Given the description of an element on the screen output the (x, y) to click on. 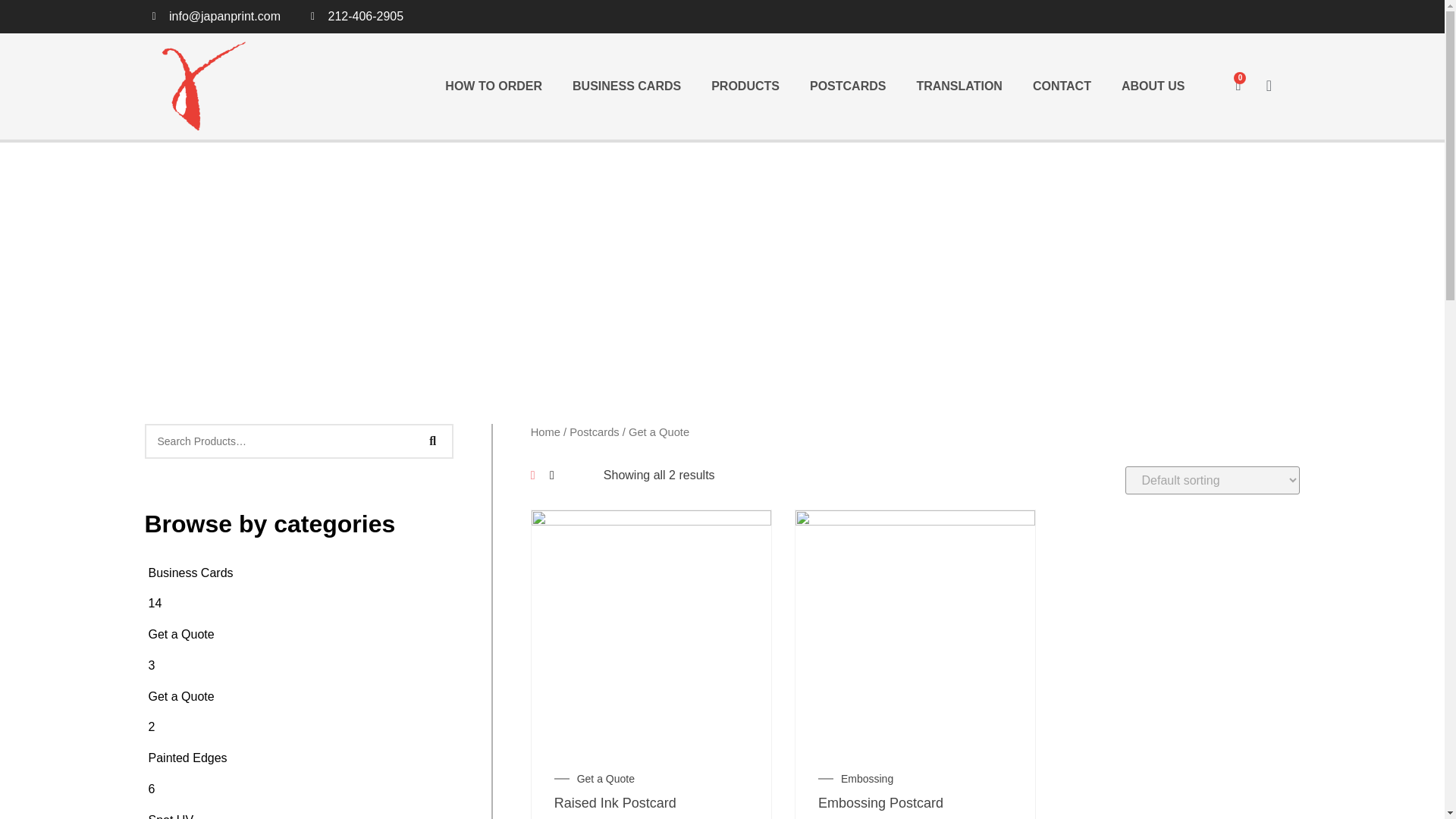
PRODUCTS (744, 86)
HOW TO ORDER (493, 86)
BUSINESS CARDS (626, 86)
212-406-2905 (357, 16)
Search for: (279, 441)
